Given the description of an element on the screen output the (x, y) to click on. 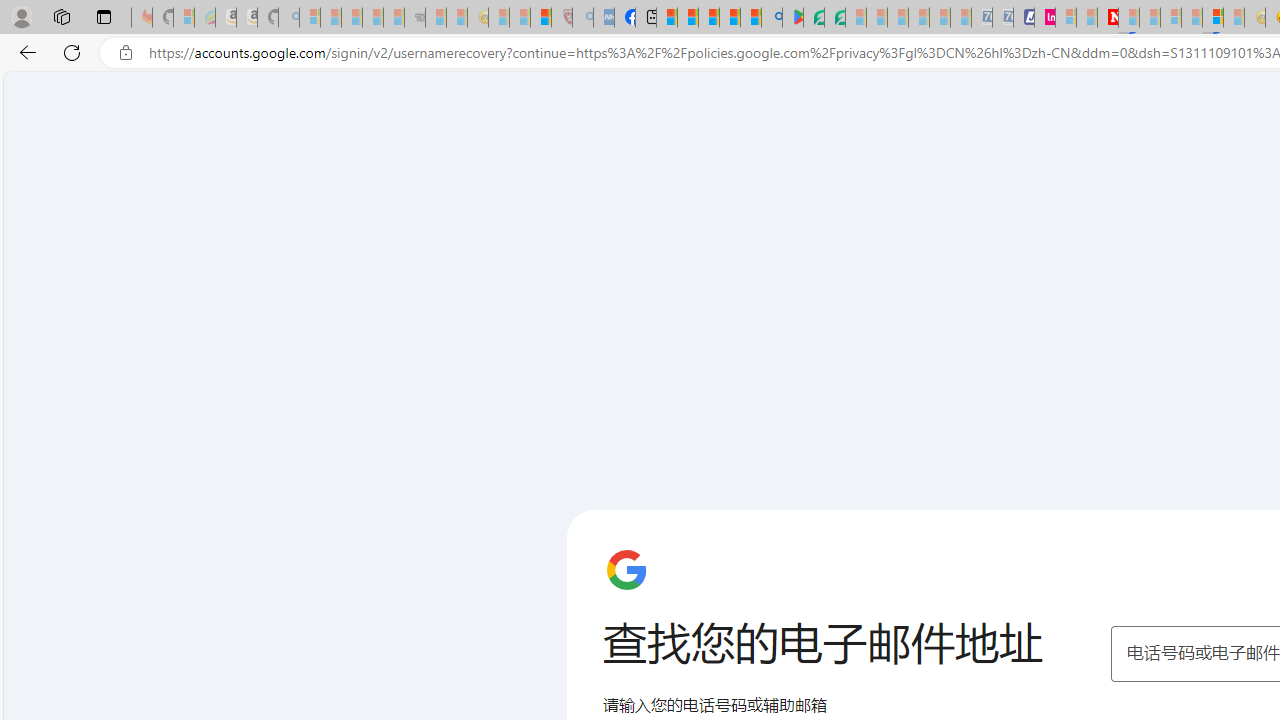
New Report Confirms 2023 Was Record Hot | Watch - Sleeping (394, 17)
Cheap Car Rentals - Save70.com - Sleeping (981, 17)
Terms of Use Agreement (813, 17)
Microsoft Start - Sleeping (1086, 17)
The Weather Channel - MSN - Sleeping (351, 17)
Combat Siege (414, 17)
